Given the description of an element on the screen output the (x, y) to click on. 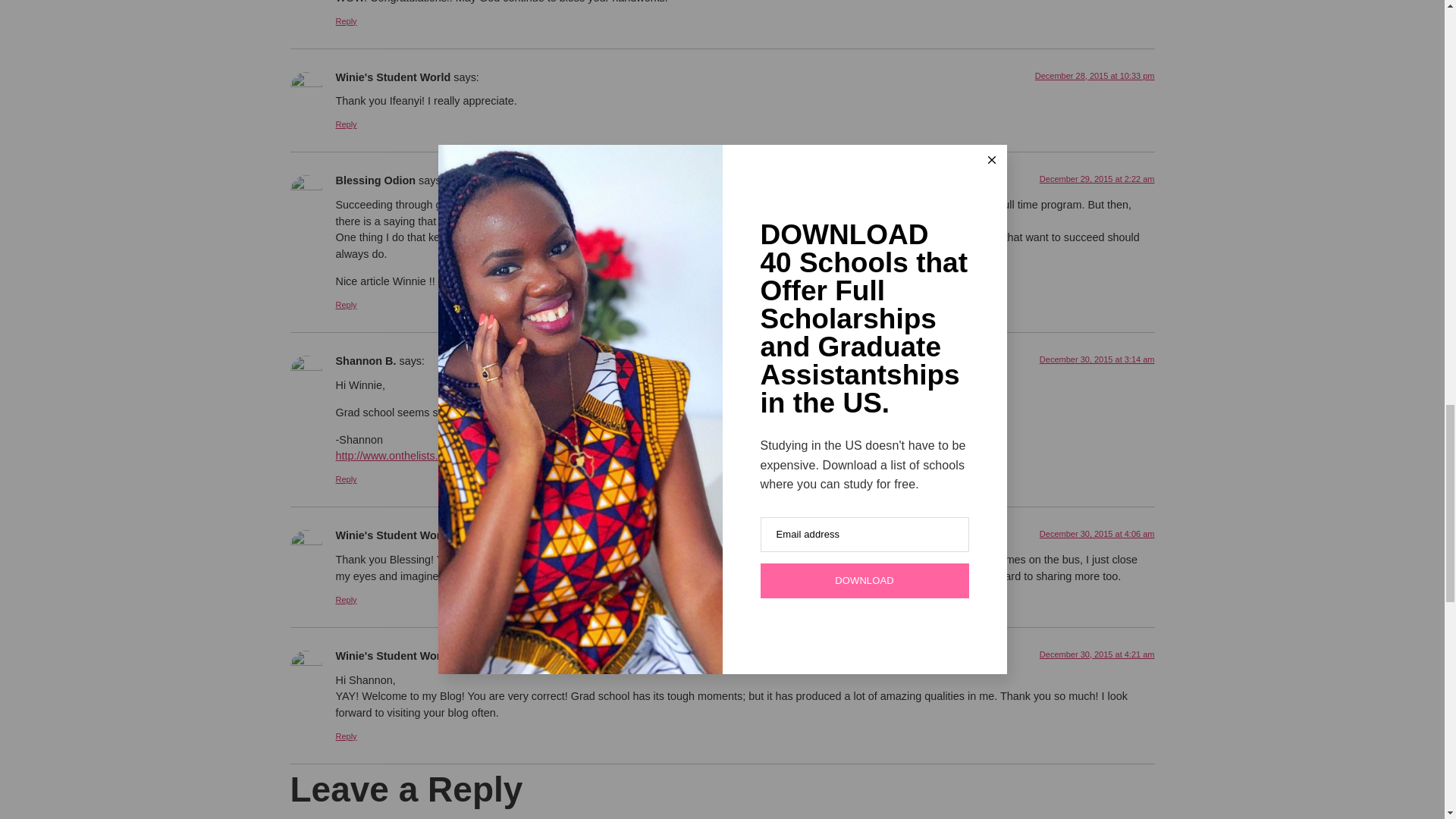
December 29, 2015 at 2:22 am (1096, 178)
Reply (345, 736)
Reply (345, 123)
Reply (345, 20)
December 30, 2015 at 4:06 am (1096, 533)
Reply (345, 479)
December 28, 2015 at 10:33 pm (1094, 75)
December 30, 2015 at 3:14 am (1096, 358)
Reply (345, 599)
December 30, 2015 at 4:21 am (1096, 654)
Reply (345, 304)
